Given the description of an element on the screen output the (x, y) to click on. 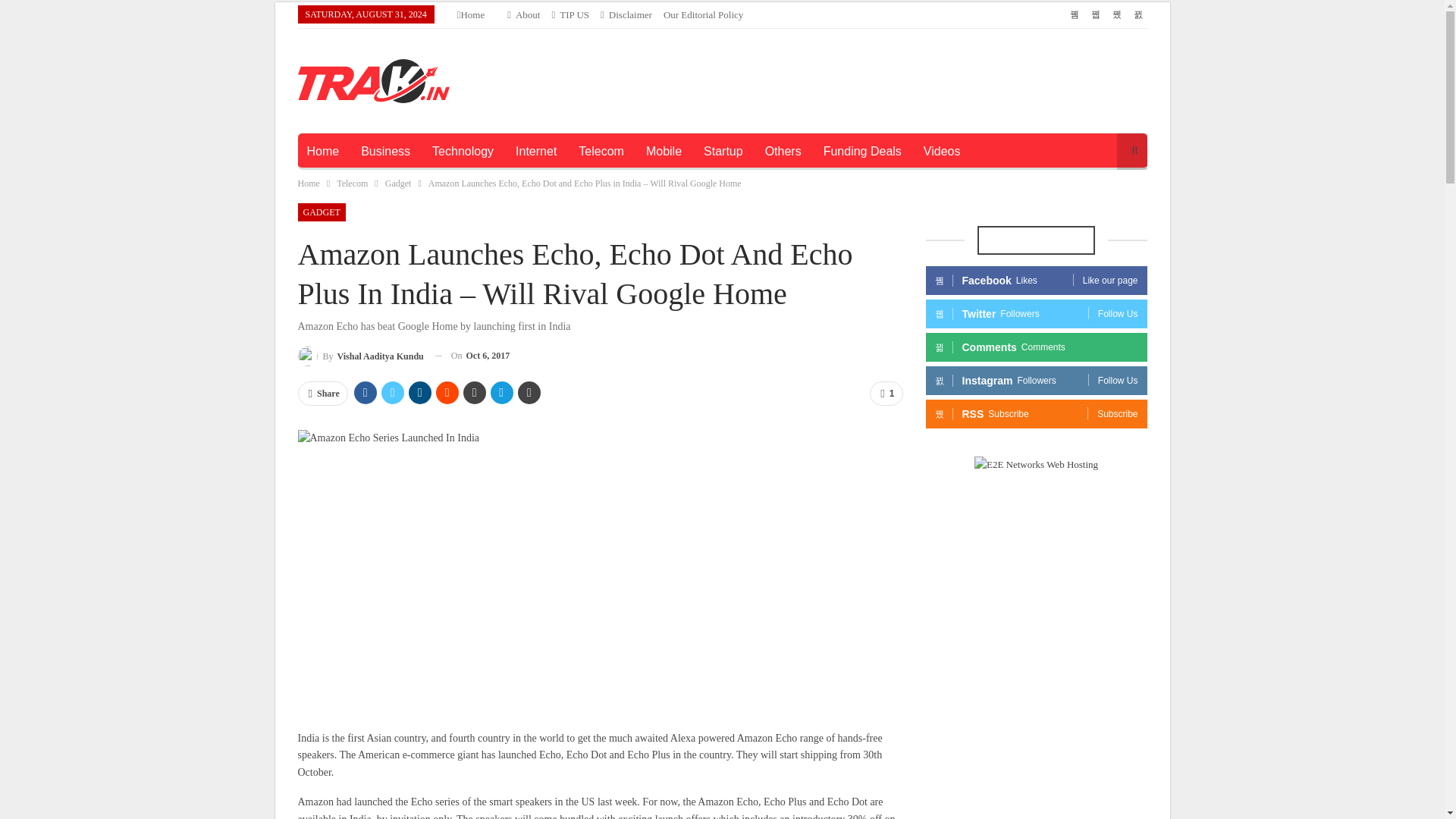
TIP US (570, 14)
Home (322, 151)
Business (385, 151)
Home (470, 14)
Technology (462, 151)
1 (885, 393)
Get in Touch (570, 14)
Telecom (601, 151)
Others (782, 151)
Mobile (663, 151)
